Given the description of an element on the screen output the (x, y) to click on. 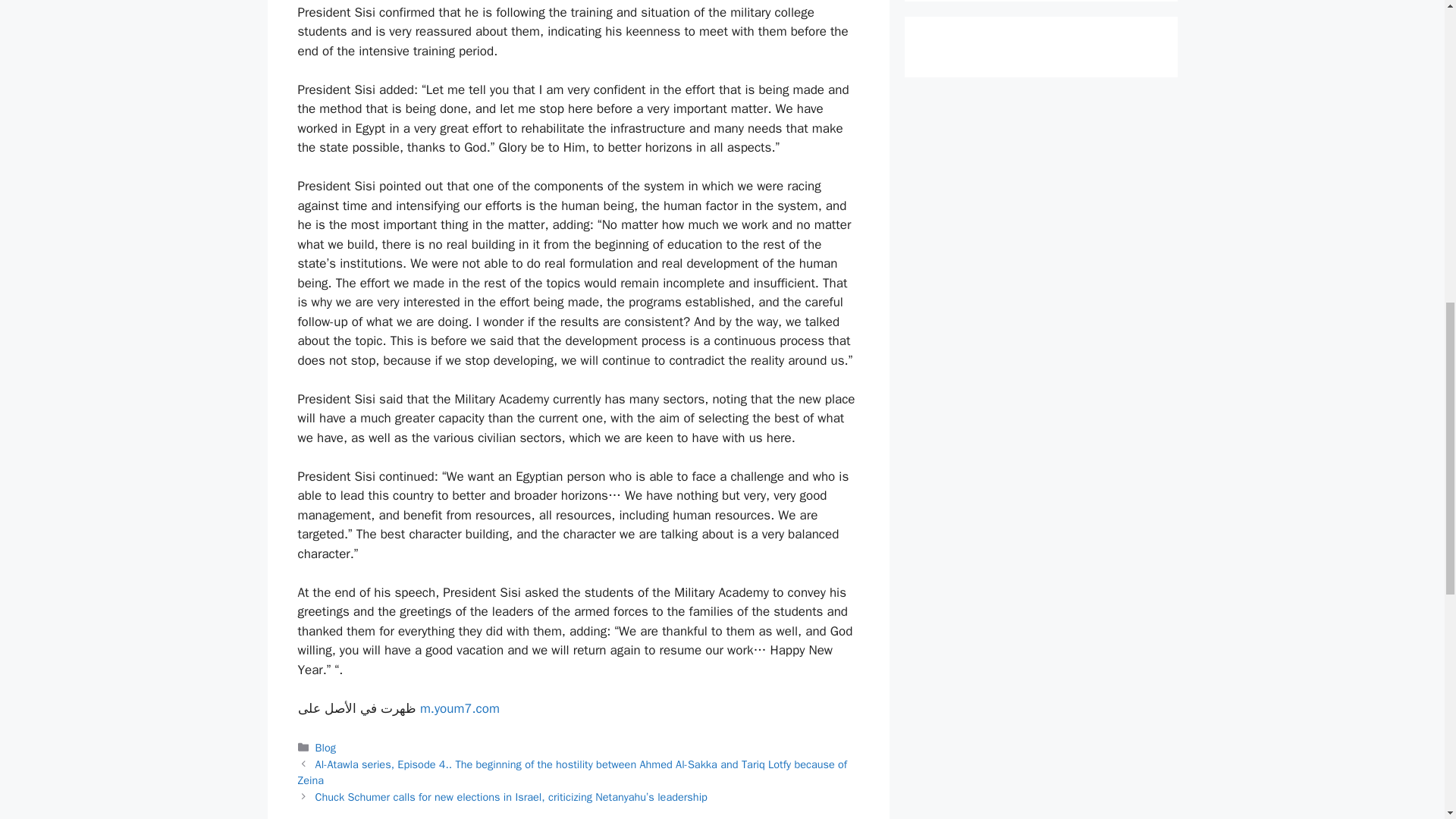
Blog (325, 747)
m.youm7.com (459, 708)
